Given the description of an element on the screen output the (x, y) to click on. 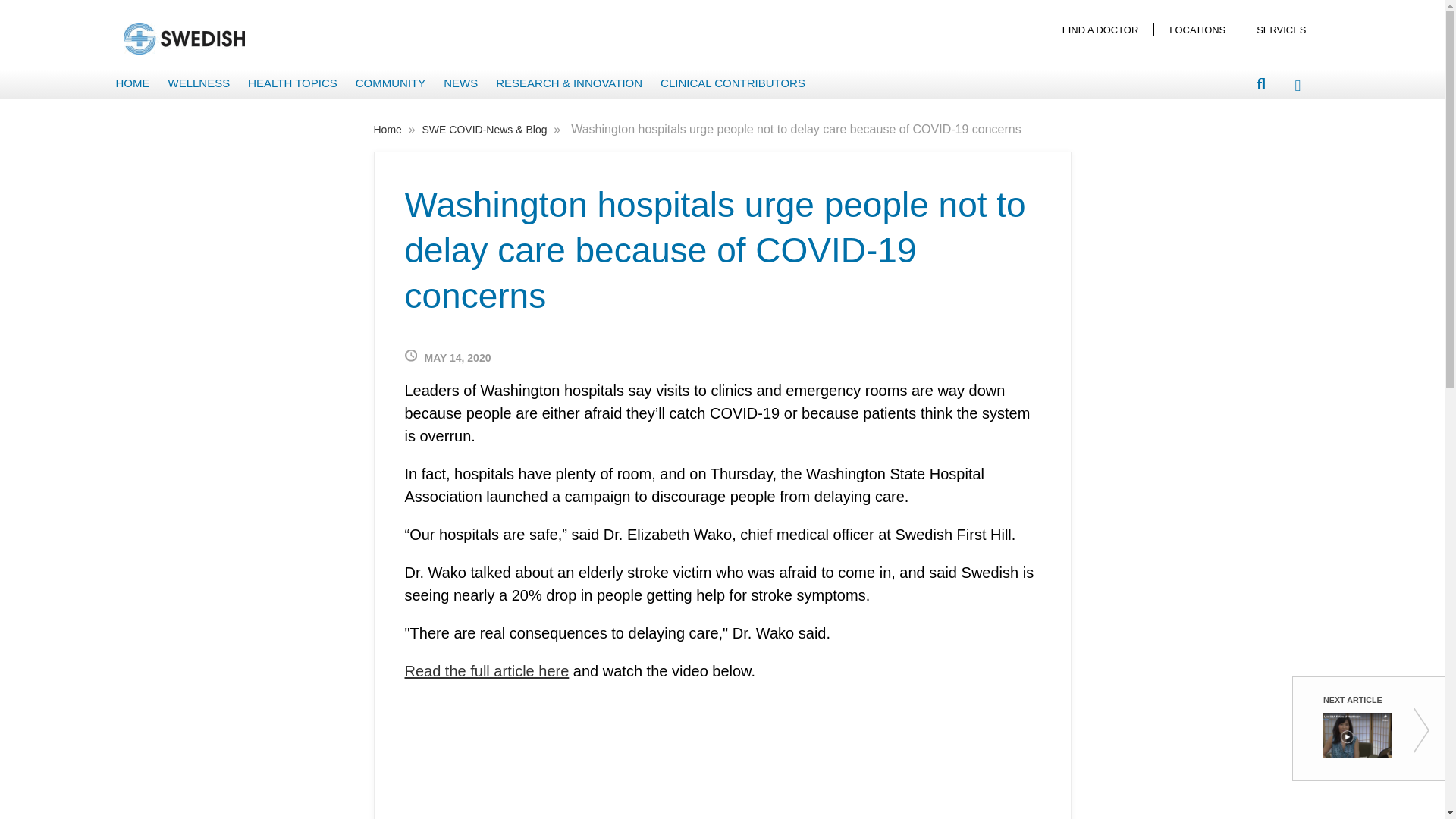
WELLNESS (199, 83)
LOCATIONS (1197, 29)
HOME (132, 83)
COMMUNITY (390, 83)
SERVICES (1280, 29)
HEALTH TOPICS (293, 83)
NEWS (460, 83)
CLINICAL CONTRIBUTORS (732, 83)
Home (388, 129)
FIND A DOCTOR (1100, 29)
